Given the description of an element on the screen output the (x, y) to click on. 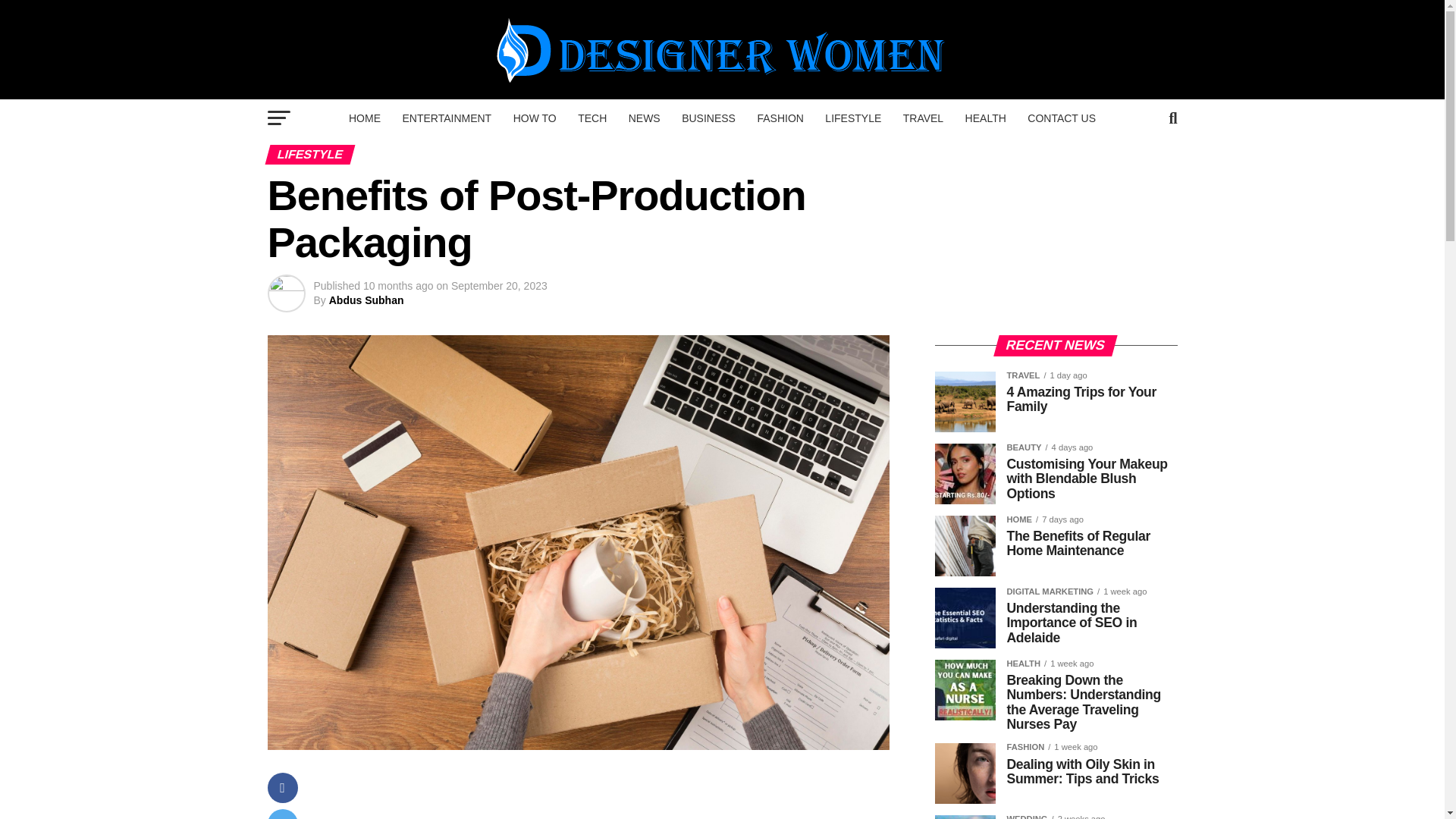
BUSINESS (708, 118)
TECH (592, 118)
HOW TO (534, 118)
ENTERTAINMENT (446, 118)
Posts by Abdus Subhan (366, 300)
HOME (364, 118)
NEWS (644, 118)
Advertisement (607, 796)
